Given the description of an element on the screen output the (x, y) to click on. 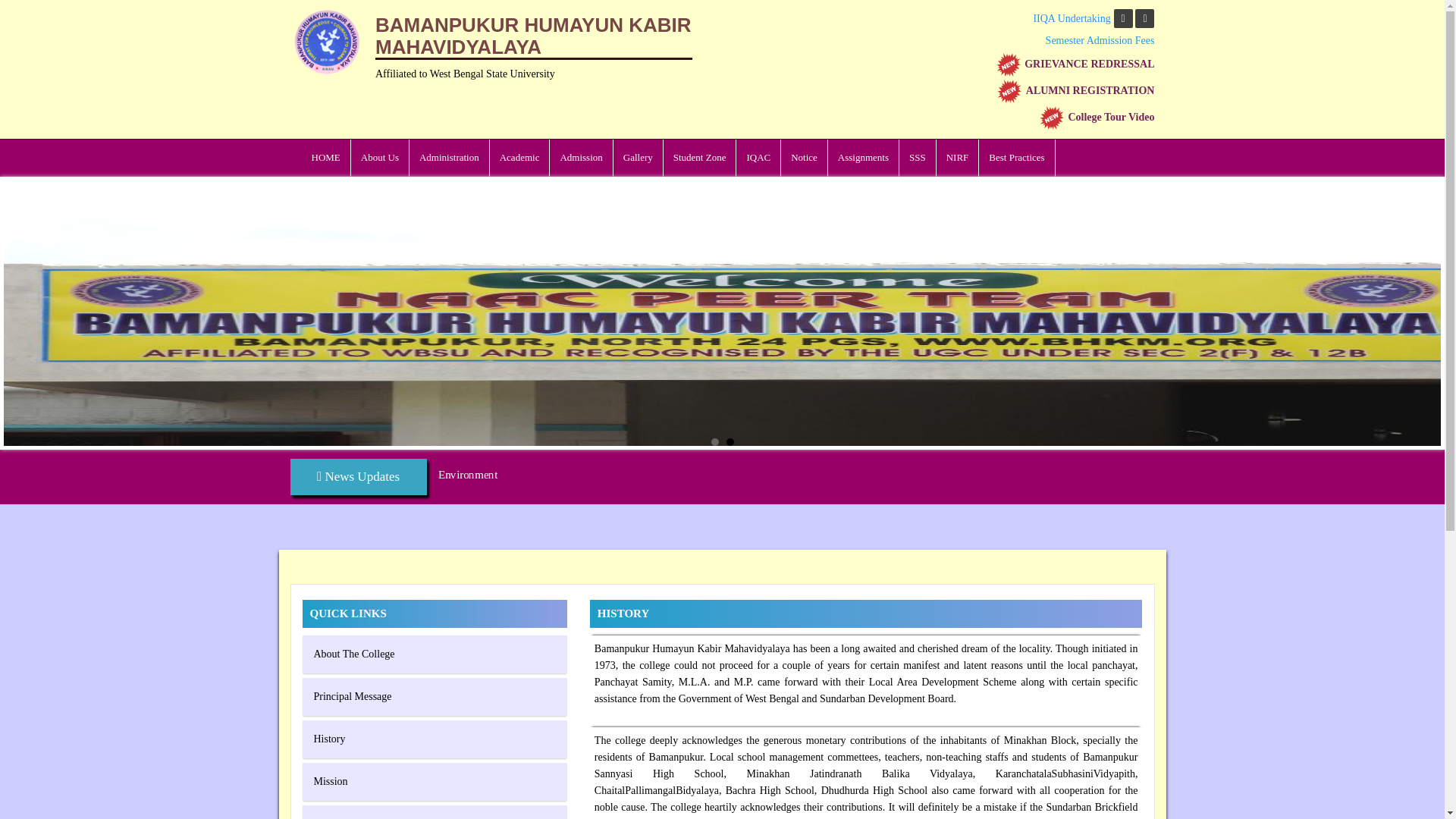
About Us (379, 157)
GRIEVANCE REDRESSAL (1074, 63)
HOME (325, 157)
Semester Admission Fees (1099, 40)
Academic (519, 157)
Administration (449, 157)
IIQA Undertaking (1070, 18)
ALUMNI REGISTRATION (1074, 90)
College Tour Video (1096, 116)
